Given the description of an element on the screen output the (x, y) to click on. 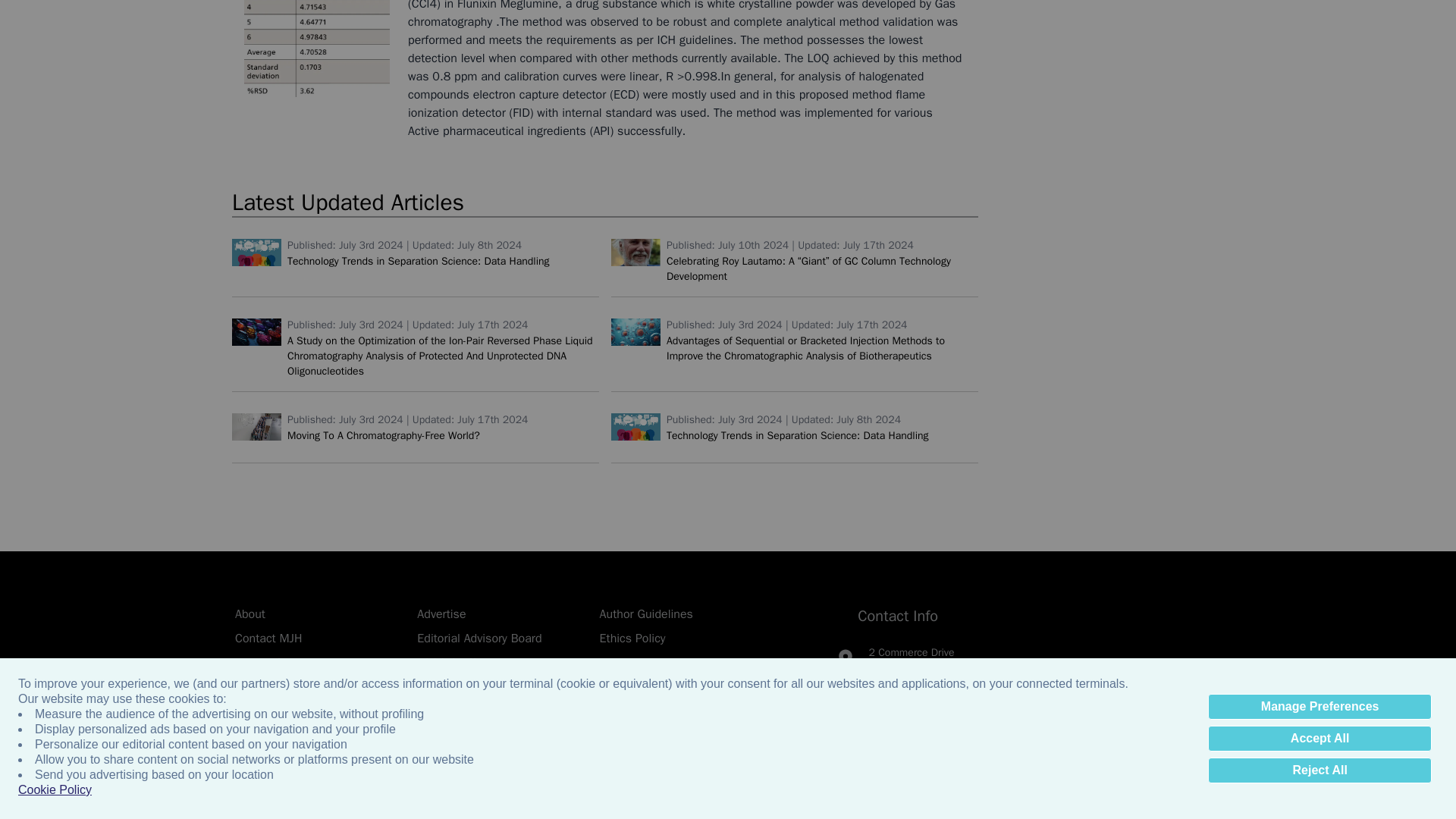
3rd party ad content (727, 160)
Accept All (1319, 114)
Reject All (1319, 145)
Cookie Policy (54, 165)
Manage Preferences (1319, 82)
